Given the description of an element on the screen output the (x, y) to click on. 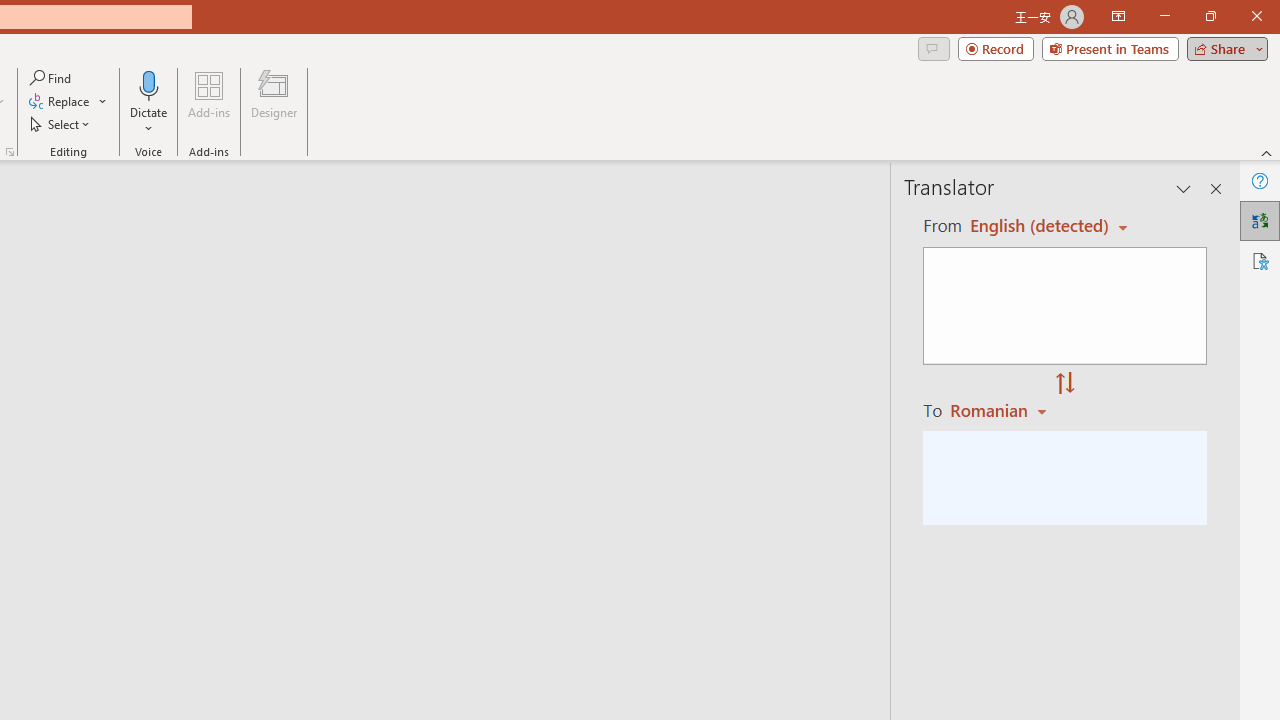
Replace... (60, 101)
Replace... (68, 101)
Select (61, 124)
Task Pane Options (1183, 188)
Restore Down (1210, 16)
Designer (274, 102)
Romanian (1001, 409)
